Given the description of an element on the screen output the (x, y) to click on. 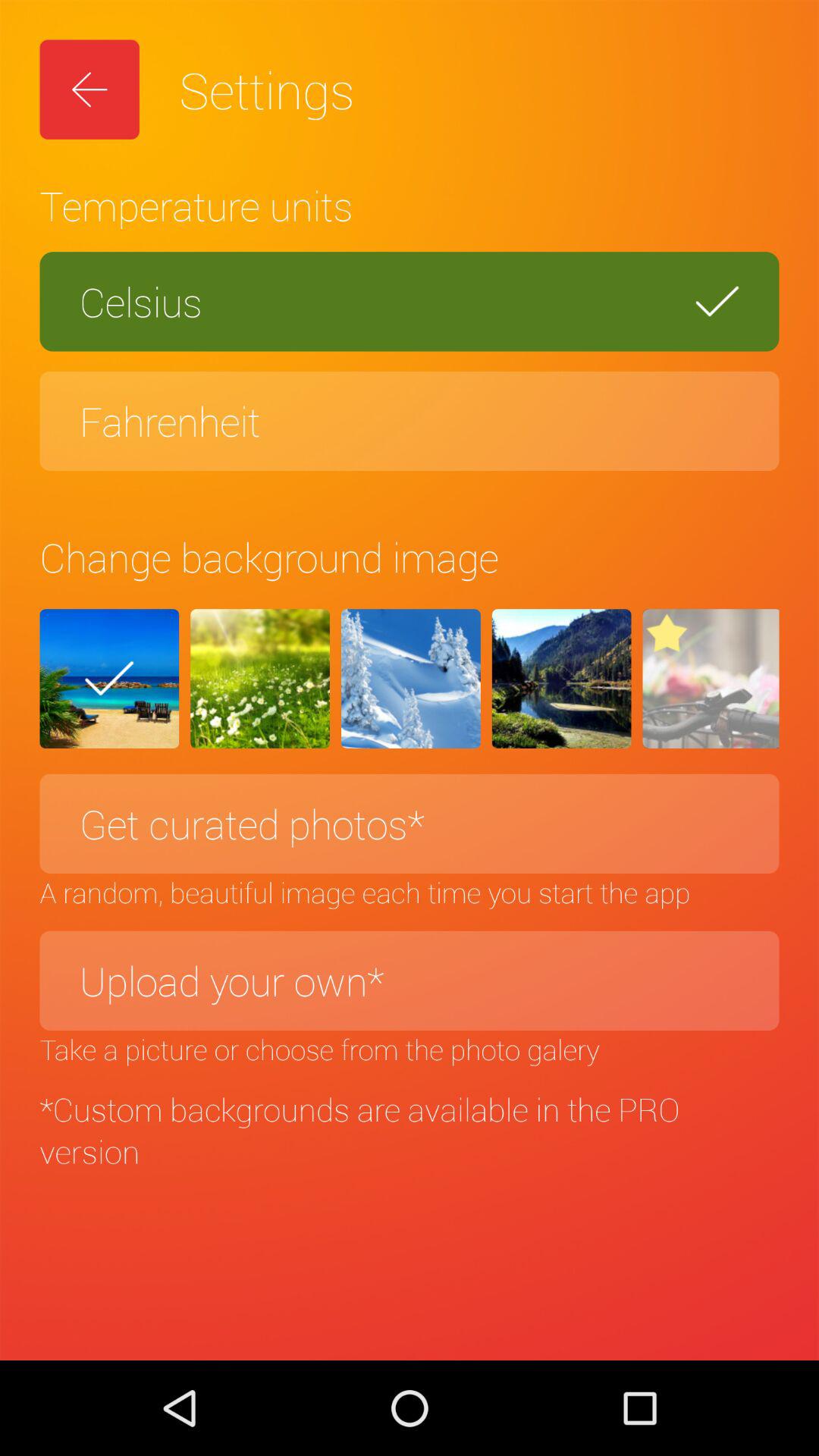
press the item above the temperature units item (89, 89)
